Given the description of an element on the screen output the (x, y) to click on. 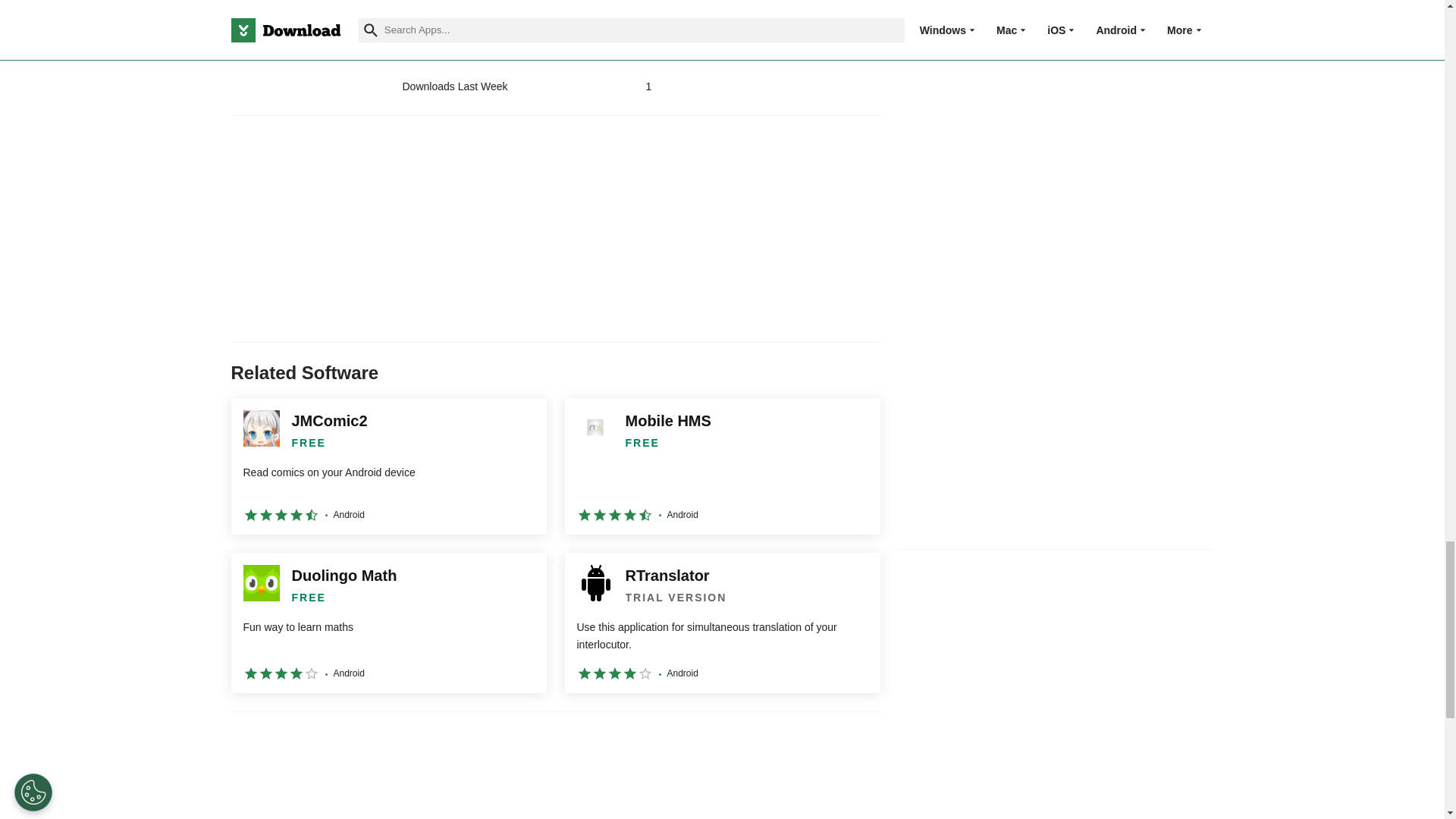
Mobile HMS (721, 466)
RTranslator (721, 622)
JMComic2 (388, 466)
Duolingo Math (388, 622)
